Given the description of an element on the screen output the (x, y) to click on. 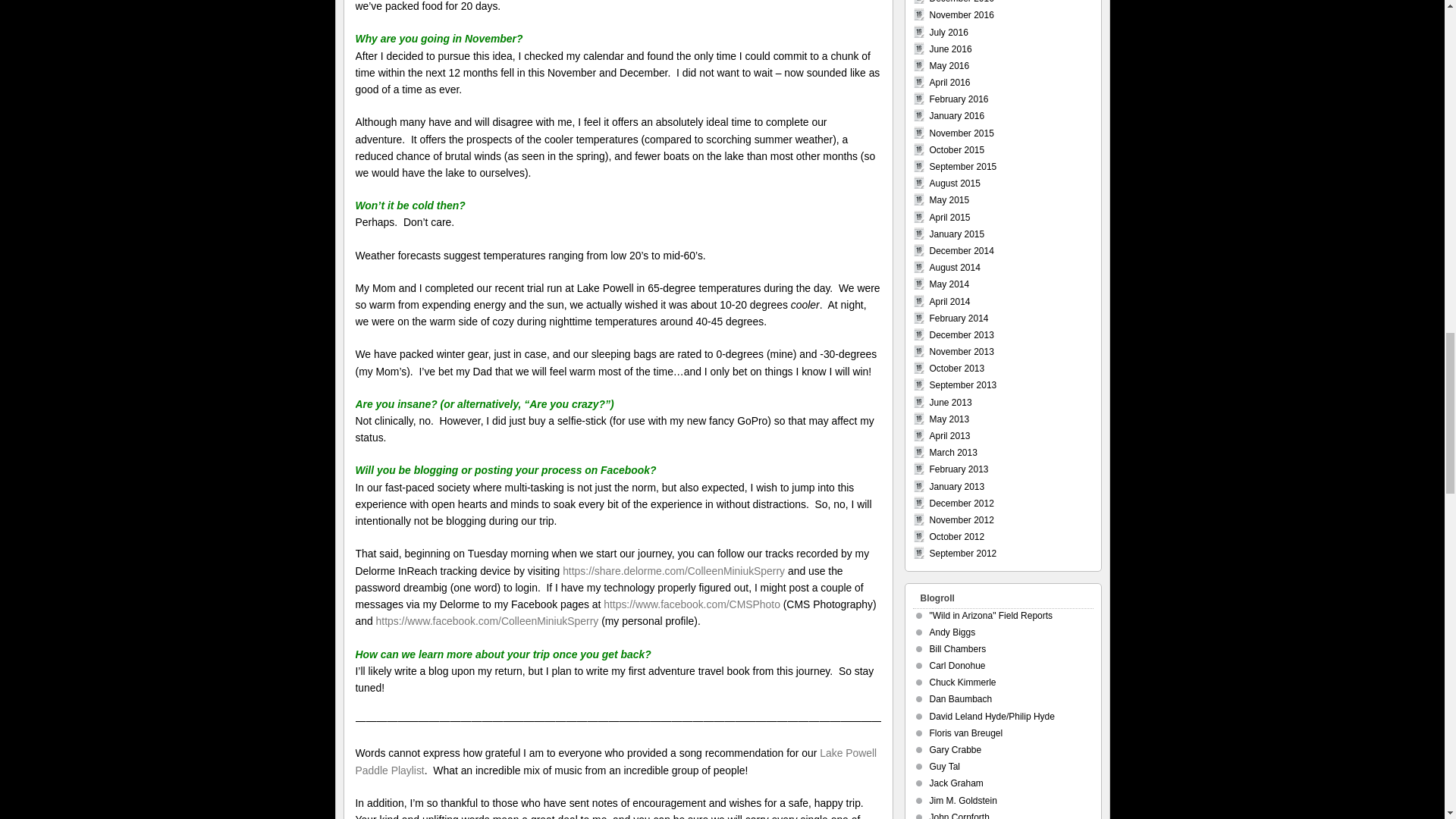
Lake Powell Paddle Playlist (615, 760)
